Given the description of an element on the screen output the (x, y) to click on. 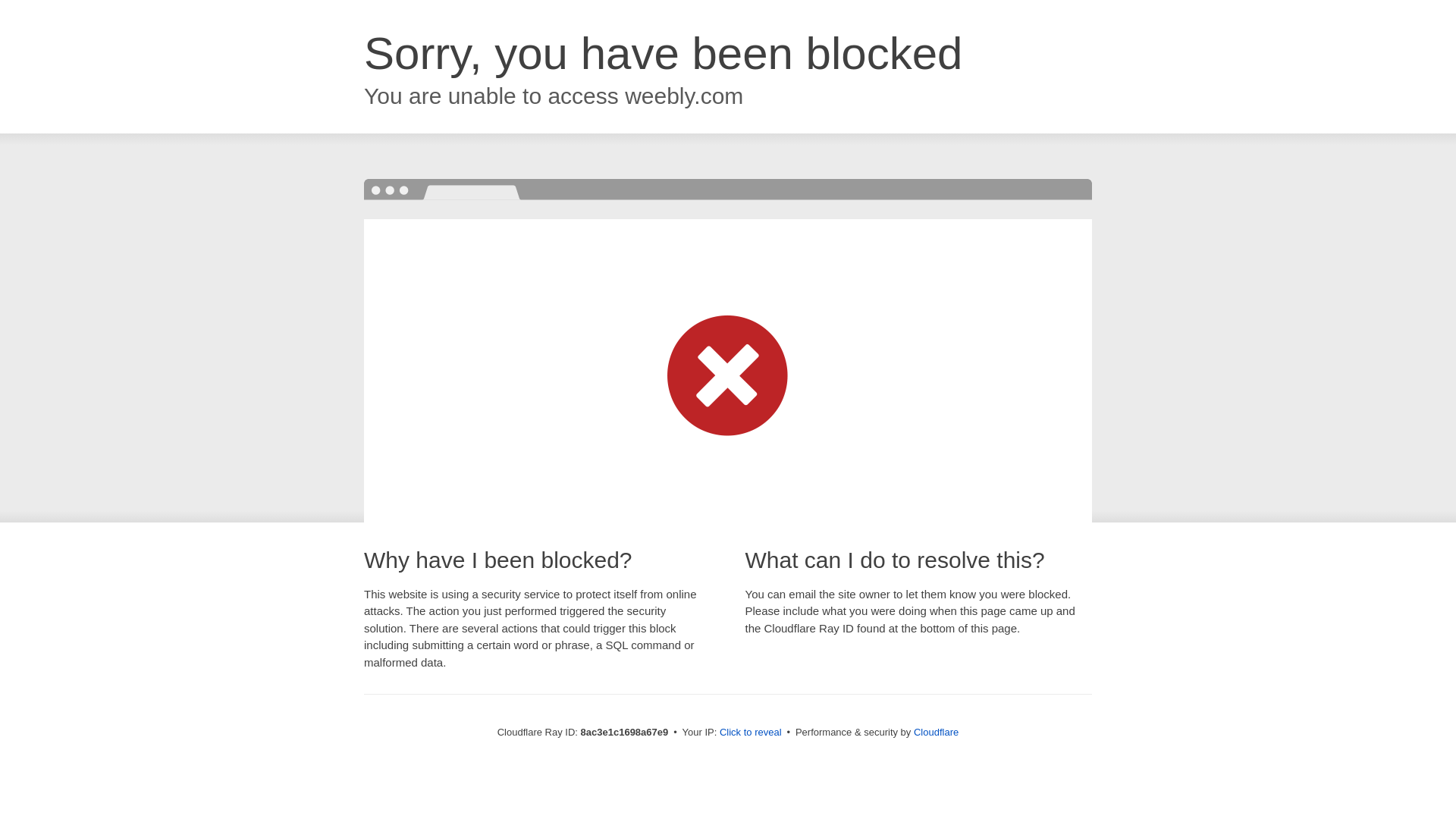
Click to reveal (750, 732)
Cloudflare (936, 731)
